Given the description of an element on the screen output the (x, y) to click on. 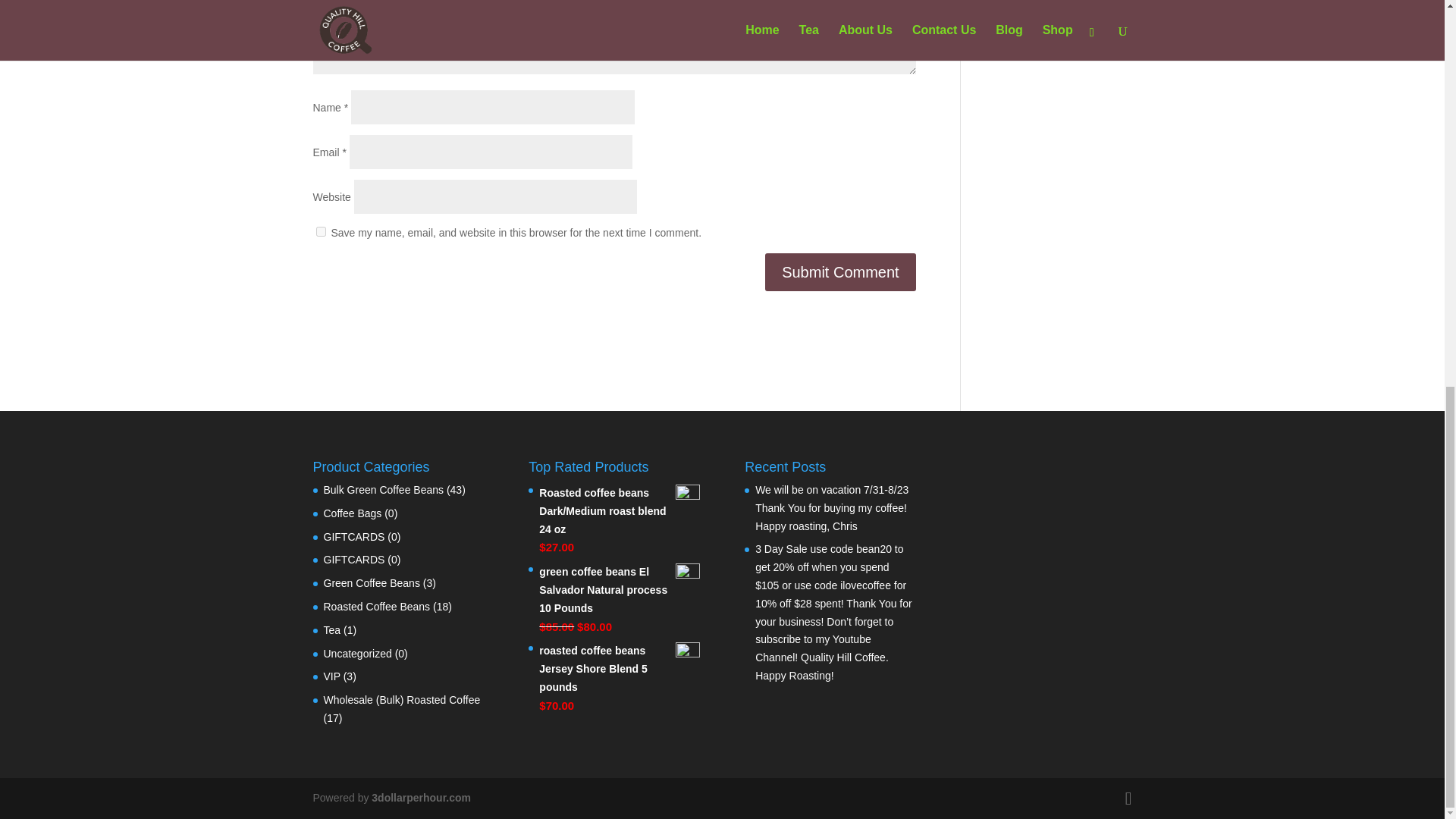
3dollarperhour.com (420, 797)
VIP (331, 676)
Bulk Green Coffee Beans (383, 490)
Submit Comment (840, 272)
green coffee beans El Salvador Natural process 10 Pounds (618, 590)
roasted coffee beans Jersey Shore Blend 5 pounds (618, 669)
Roasted Coffee Beans (376, 606)
Uncategorized (357, 653)
GIFTCARDS (353, 536)
Green Coffee Beans (371, 582)
